Given the description of an element on the screen output the (x, y) to click on. 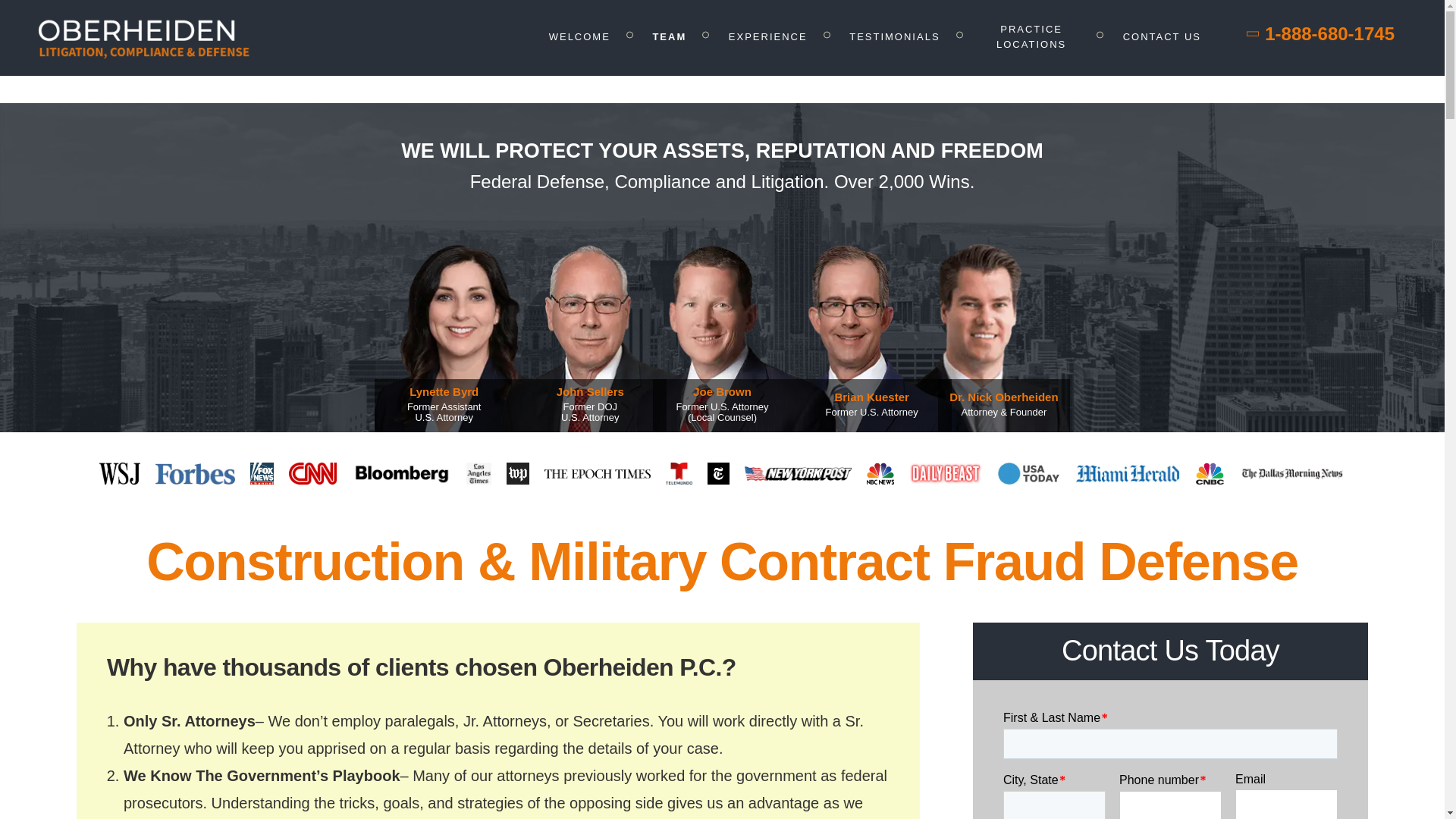
TEAM (668, 36)
1-888-680-1745 (1321, 33)
CONTACT US (1161, 36)
PRACTICE LOCATIONS (1030, 36)
TESTIMONIALS (893, 36)
EXPERIENCE (768, 36)
WELCOME (579, 36)
